Given the description of an element on the screen output the (x, y) to click on. 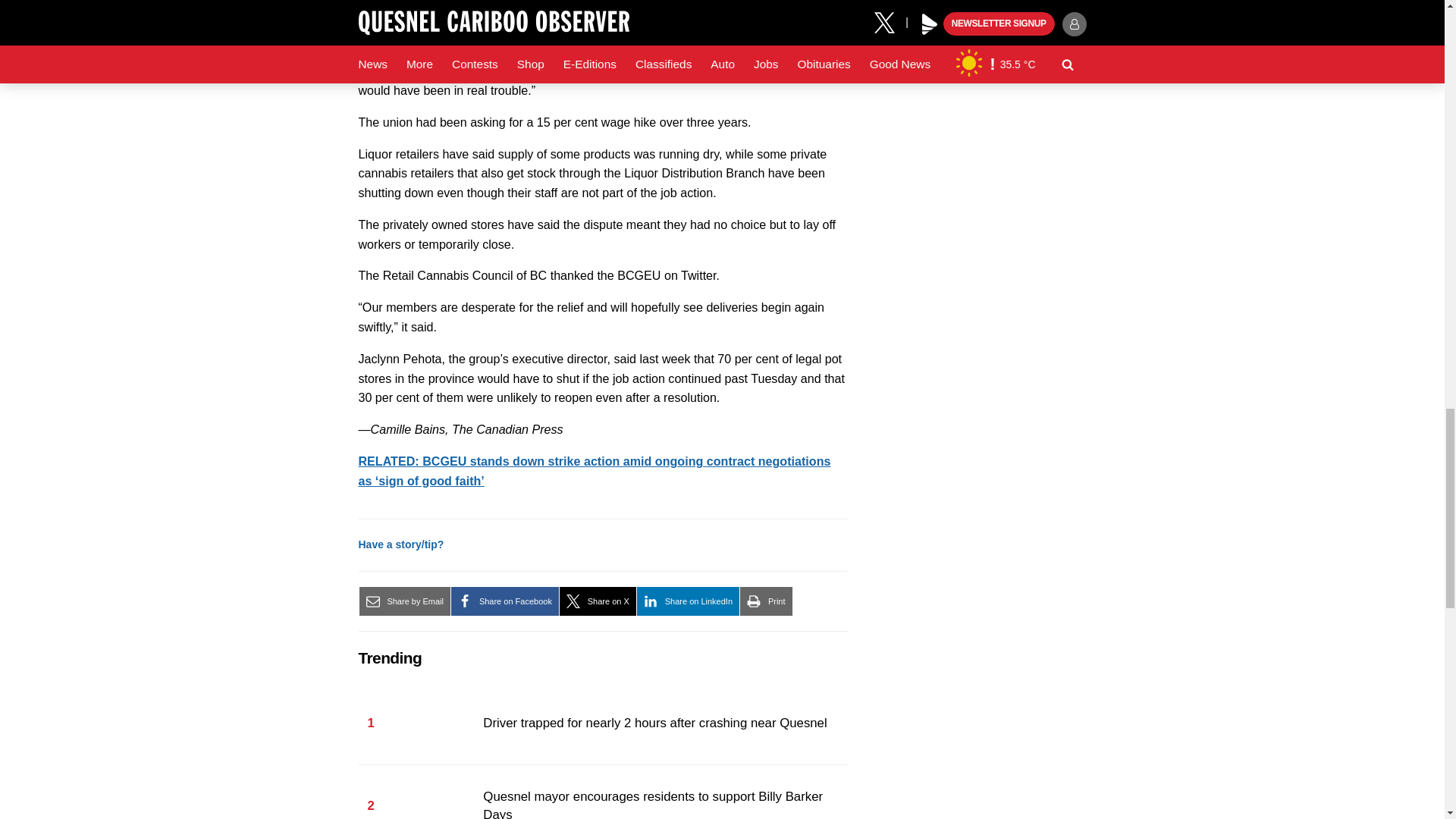
related story (593, 470)
